Given the description of an element on the screen output the (x, y) to click on. 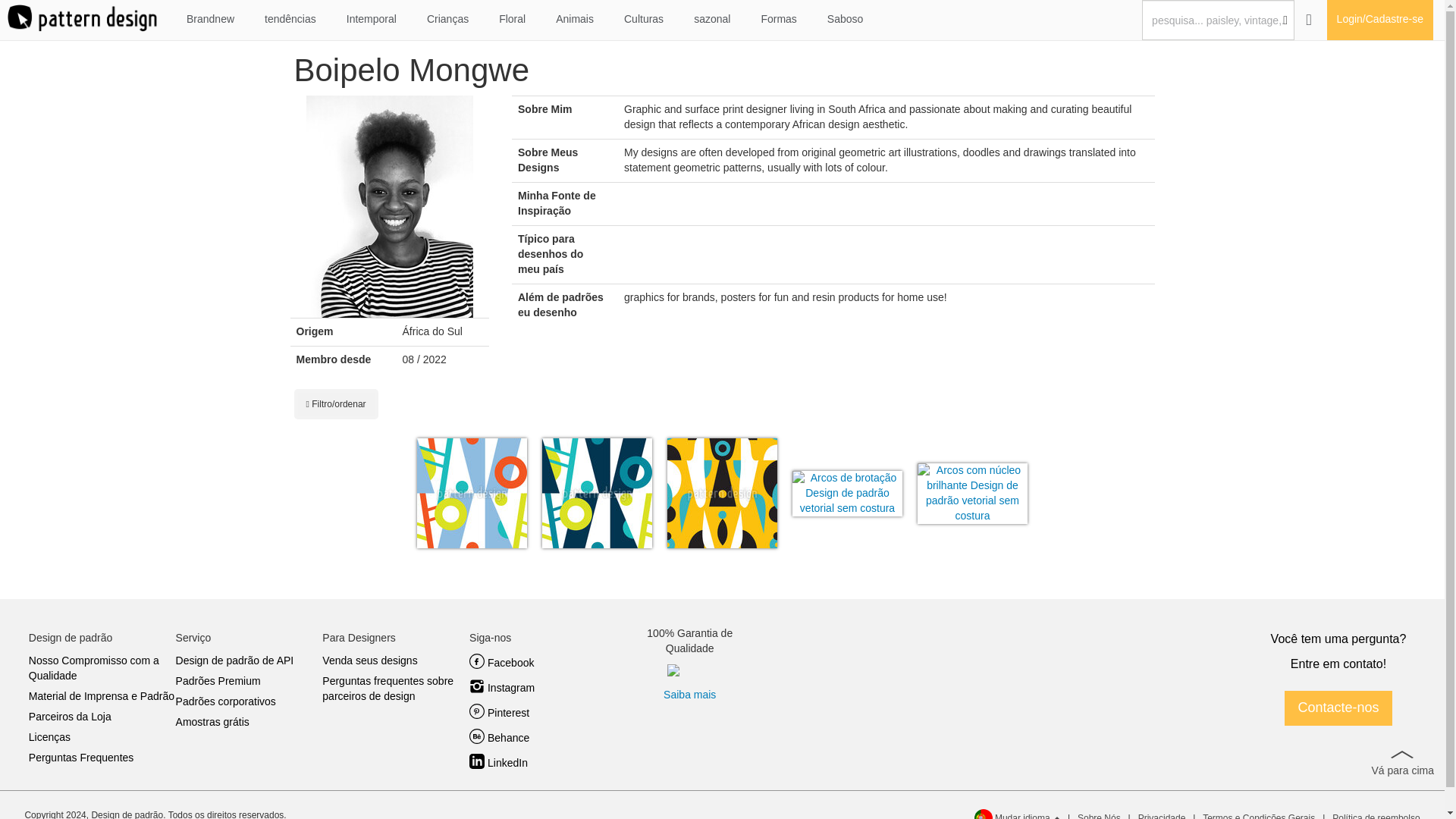
Pattern Design (82, 17)
Animais (574, 20)
Intemporal (371, 20)
Intemporal (371, 19)
Brandnew (209, 20)
Brandnew (209, 19)
Formas (777, 20)
Saboso (844, 20)
sazonal (711, 20)
Floral (511, 20)
